Given the description of an element on the screen output the (x, y) to click on. 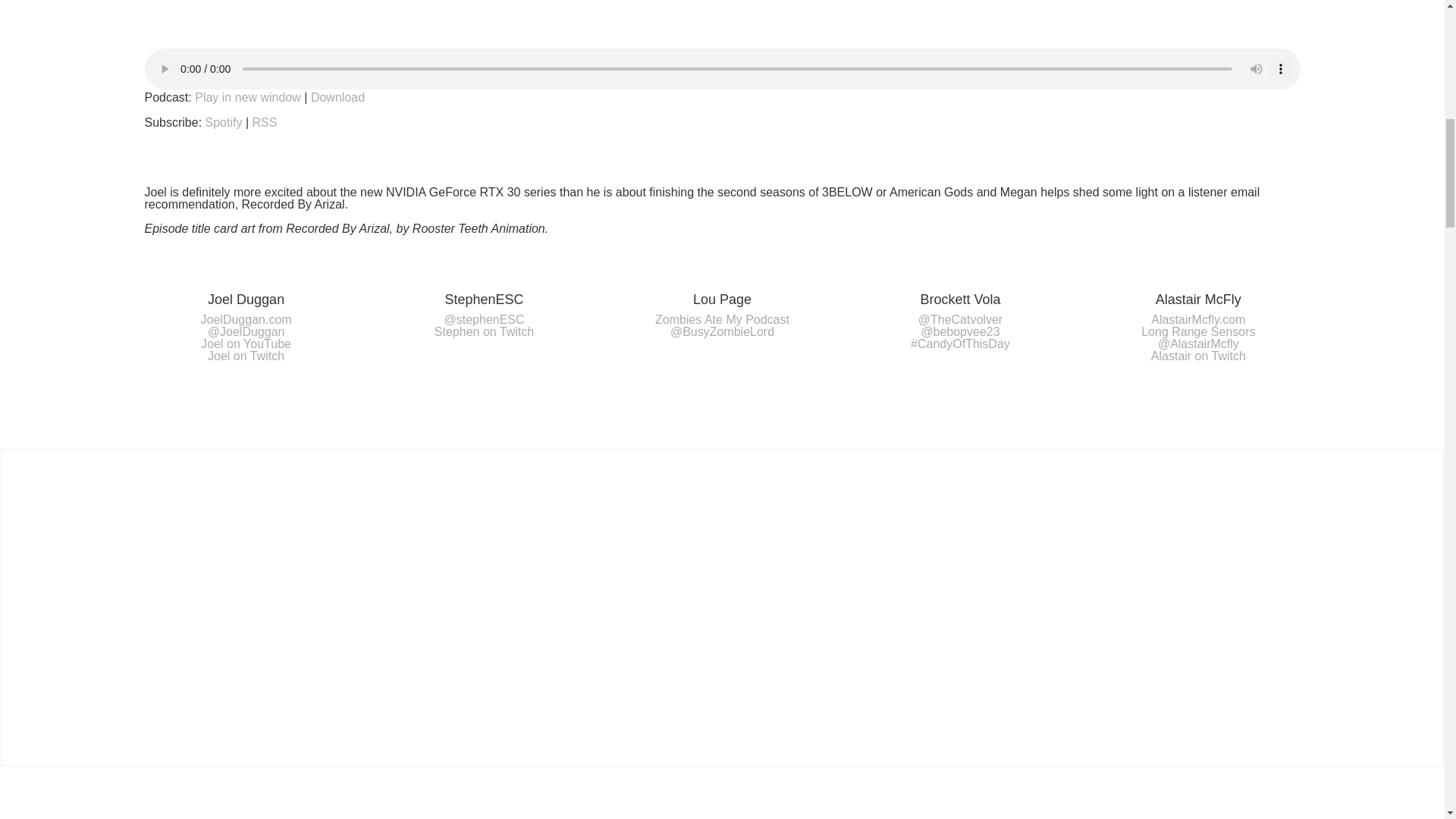
Download (338, 97)
Long Range Sensors (1198, 331)
Zombies Ate My Podcast (722, 318)
Stephen on Twitch (483, 331)
RSS (264, 122)
Joel on Twitch (245, 355)
Subscribe on Spotify (224, 122)
Joel on YouTube (245, 343)
Alastair on Twitch (1198, 355)
Spotify (224, 122)
Play in new window (248, 97)
Play in new window (248, 97)
Download (338, 97)
JoelDuggan.com (246, 318)
Become a patron! (722, 630)
